Given the description of an element on the screen output the (x, y) to click on. 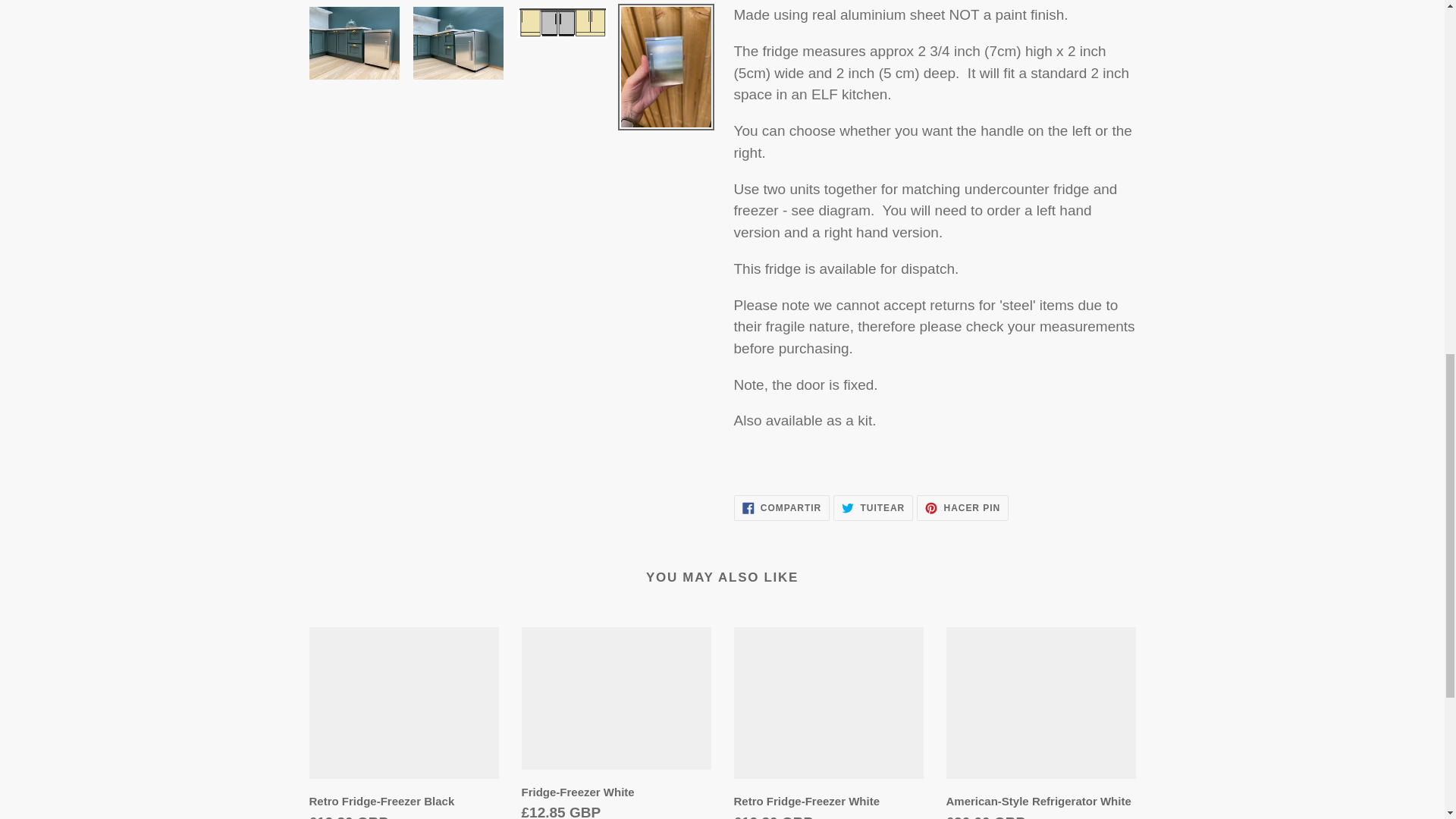
Retro Fridge-Freezer White (828, 723)
American-Style Refrigerator White (872, 507)
Retro Fridge-Freezer Black (781, 507)
Fridge-Freezer White (1040, 723)
